Given the description of an element on the screen output the (x, y) to click on. 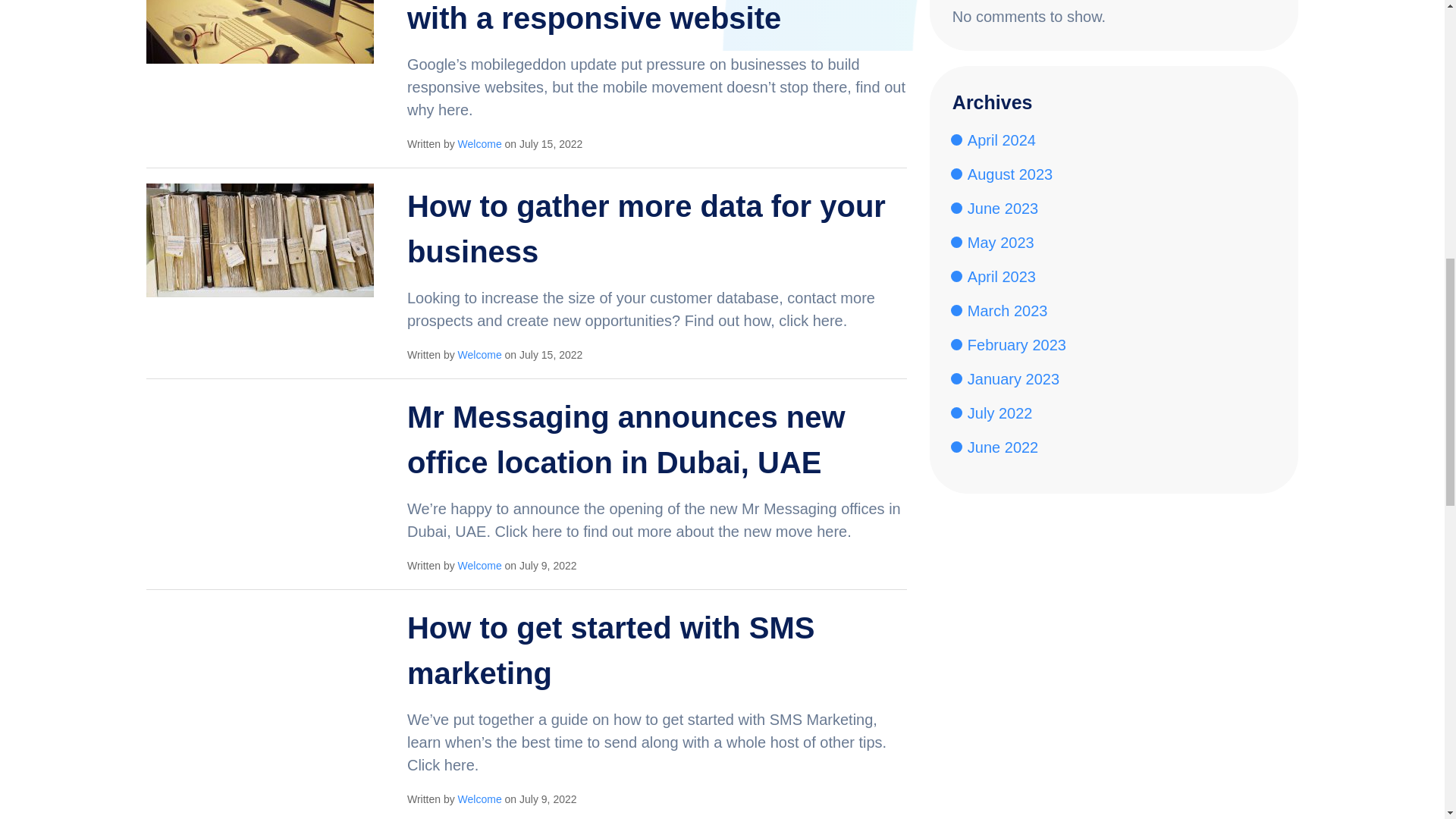
Welcome (480, 143)
How to get started with SMS marketing (611, 651)
Posts by Welcome (480, 565)
Welcome (480, 799)
How to gather more data for your business (258, 238)
April 2024 (1001, 139)
How to gather more data for your business (646, 230)
Mr Messaging announces new office location in Dubai, UAE (258, 449)
How to get started with SMS marketing (258, 660)
